Given the description of an element on the screen output the (x, y) to click on. 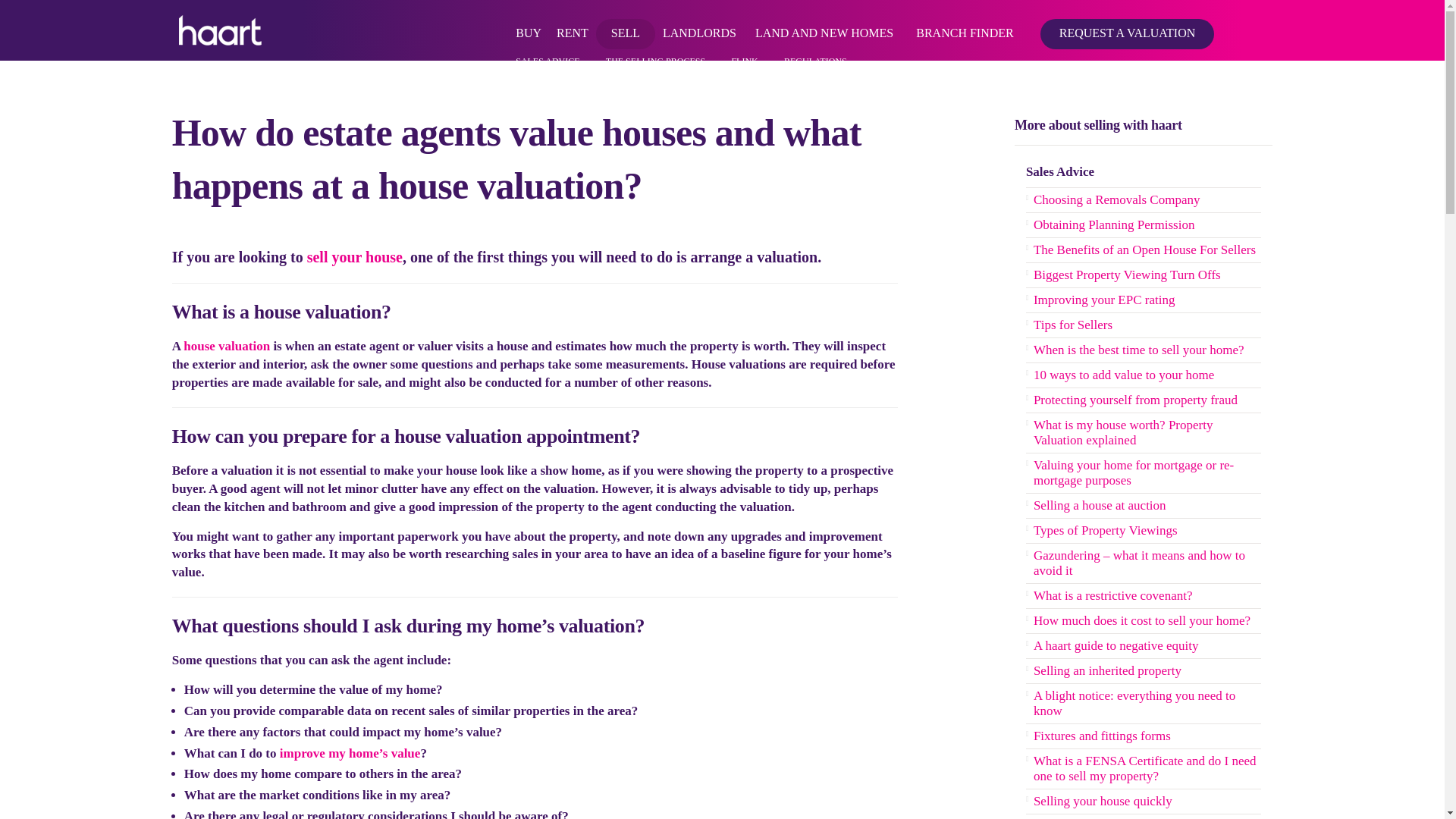
BRANCH FINDER (964, 30)
LANDLORDS (699, 30)
What is my house worth? Property Valuation explained (226, 345)
The Selling Process (355, 256)
Choosing a Removals Company (1143, 200)
Sales Advice (1143, 172)
REQUEST A VALUATION (1127, 48)
house valuation (226, 345)
10 ways to add value to your home (349, 753)
haart (220, 30)
